Given the description of an element on the screen output the (x, y) to click on. 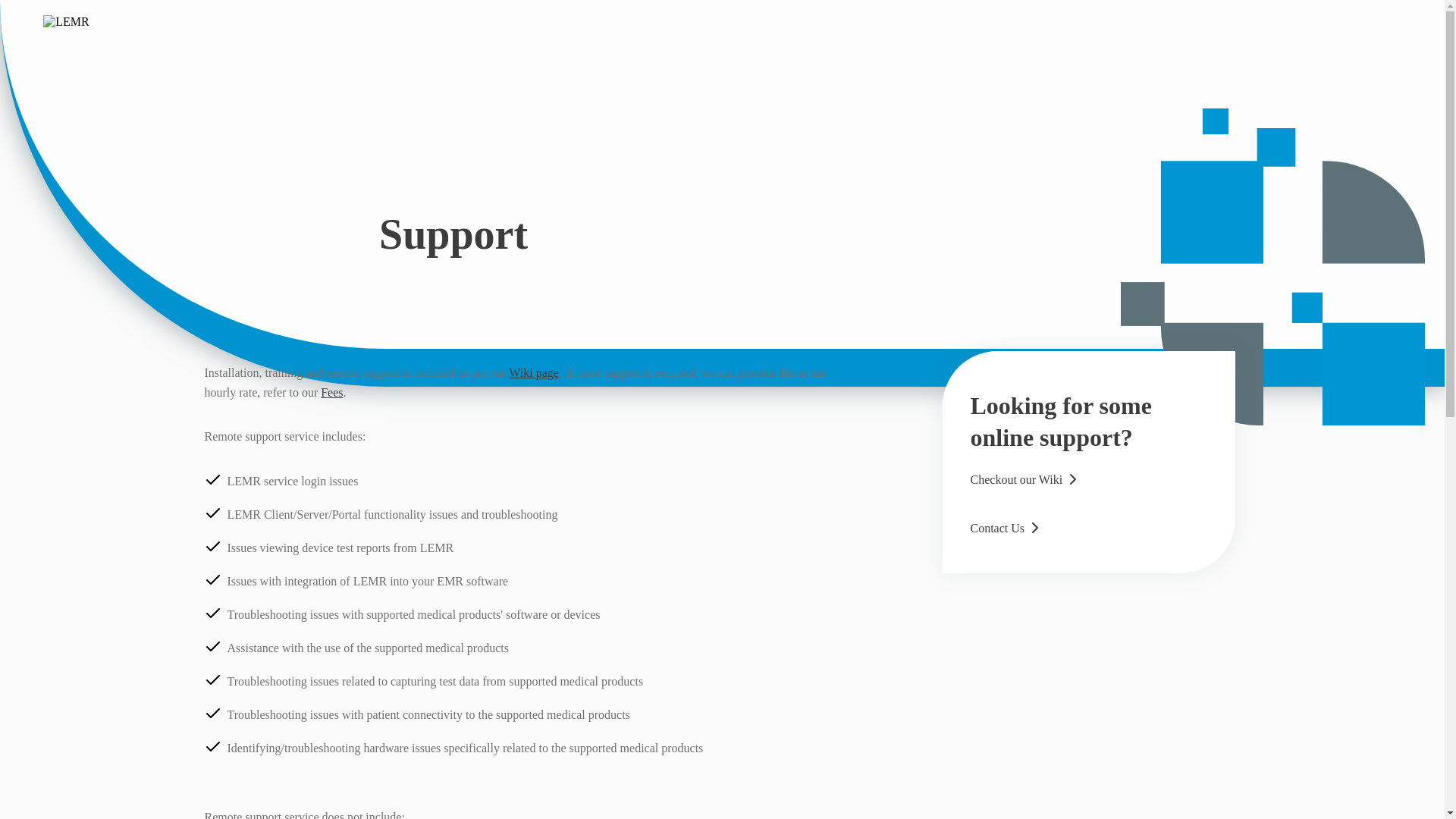
Fees (331, 391)
Checkout our Wiki (1027, 481)
Wiki page (533, 372)
Contact Us (1008, 529)
